Given the description of an element on the screen output the (x, y) to click on. 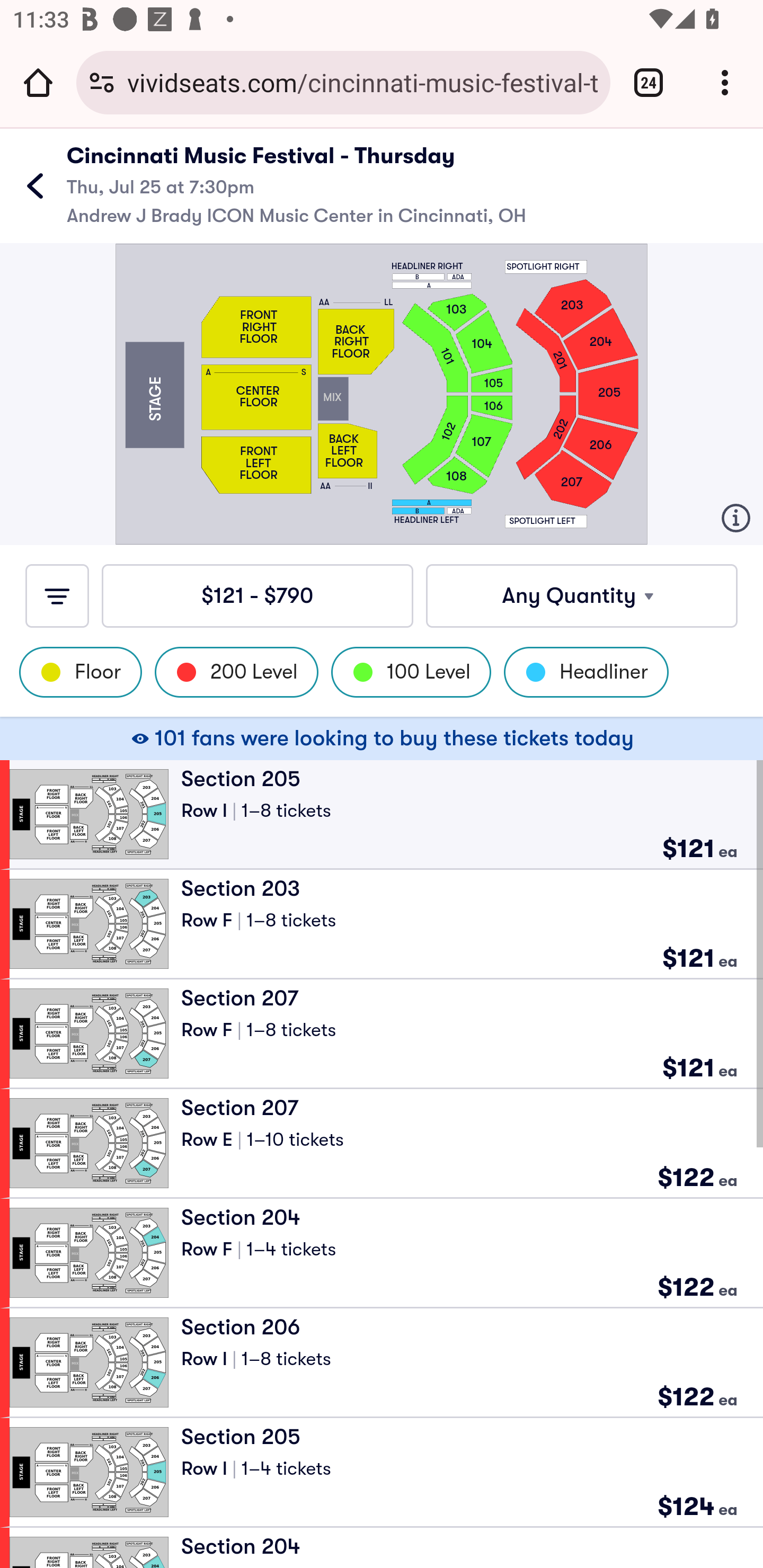
Open the home page (38, 82)
Connection is secure (101, 82)
Switch or close tabs (648, 82)
Customize and control Google Chrome (724, 82)
 (35, 184)
Info Icon (735, 518)
filter (57, 595)
$0 - $0 (257, 595)
Any Quantity  (581, 595)
Floor (81, 671)
200 Level (236, 671)
100 Level (411, 671)
Headliner (586, 671)
Section 205 Row I | 1–8 tickets $121 ea (386, 813)
Section 203 Row F | 1–8 tickets $121 ea (386, 923)
Section 207 Row F | 1–8 tickets $121 ea (386, 1033)
Section 207 Row E | 1–10 tickets $122 ea (386, 1142)
Section 204 Row F | 1–4 tickets $122 ea (386, 1252)
Section 206 Row I | 1–8 tickets $122 ea (386, 1362)
Section 205 Row I | 1–4 tickets $124 ea (386, 1472)
